Given the description of an element on the screen output the (x, y) to click on. 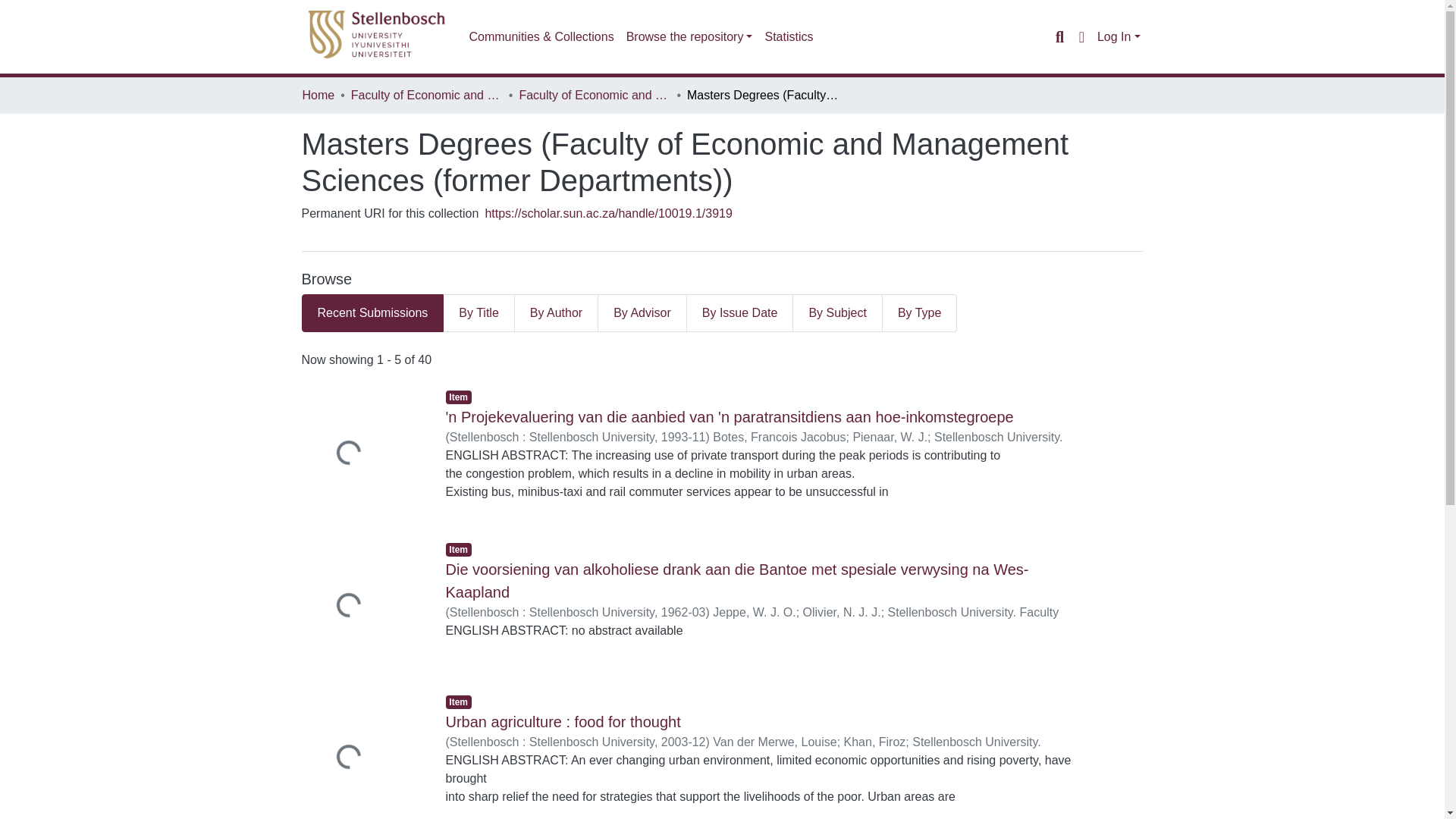
Browse the repository (689, 37)
By Author (556, 313)
Statistics (788, 37)
Loading... (362, 755)
Loading... (362, 454)
By Title (478, 313)
Log In (1118, 36)
Loading... (362, 606)
Faculty of Economic and Management Sciences (426, 95)
Urban agriculture : food for thought (563, 721)
